Given the description of an element on the screen output the (x, y) to click on. 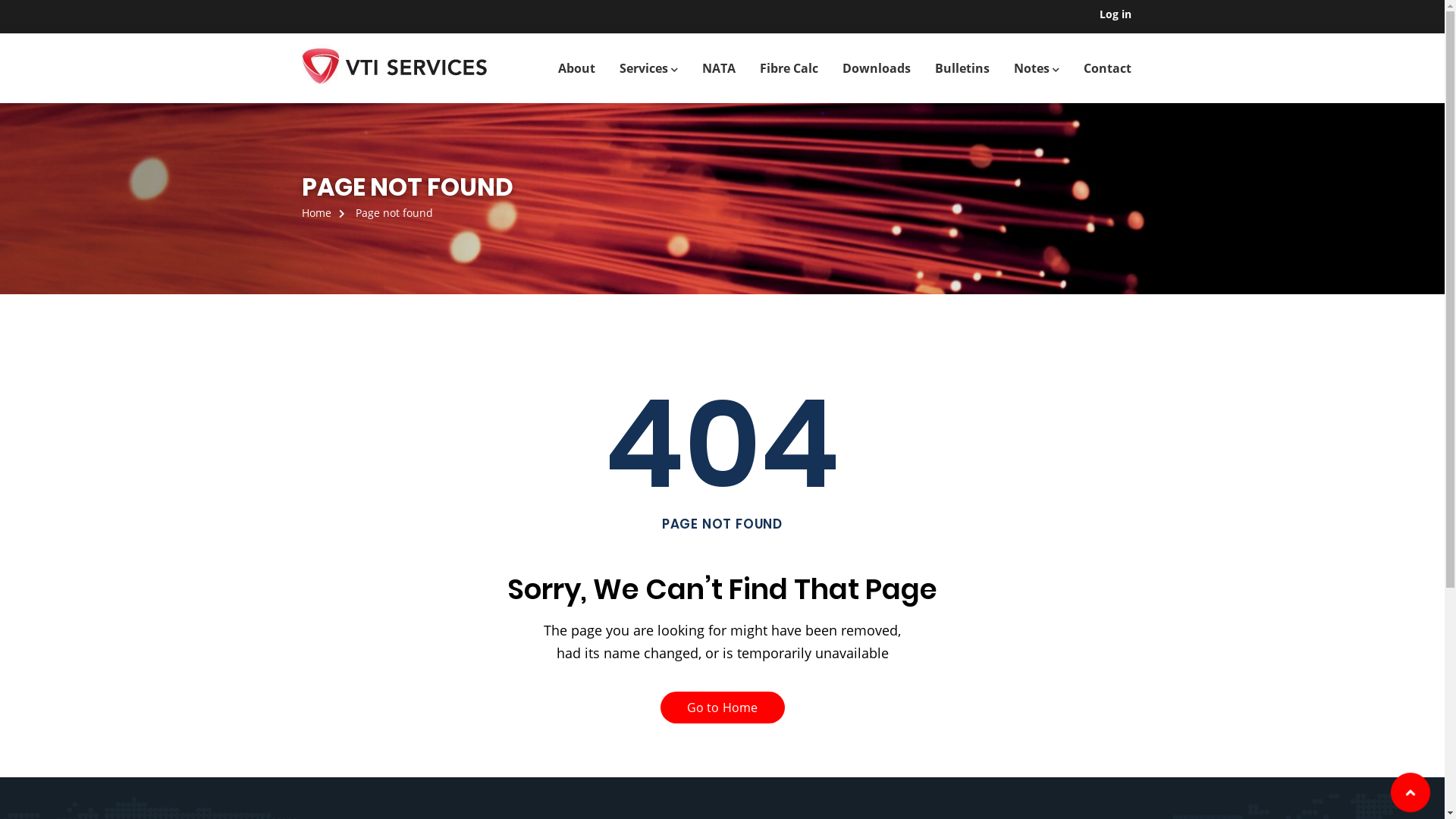
About Element type: text (576, 67)
Bulletins Element type: text (961, 67)
Go to Home Element type: text (721, 707)
Fibre Calc Element type: text (788, 67)
Home Element type: hover (399, 68)
Contact Element type: text (1106, 67)
Downloads Element type: text (875, 67)
Home Element type: text (326, 212)
Notes Element type: text (1035, 67)
NATA Element type: text (718, 67)
Home Element type: hover (415, 68)
Services Element type: text (647, 67)
Log in Element type: text (1115, 13)
